Given the description of an element on the screen output the (x, y) to click on. 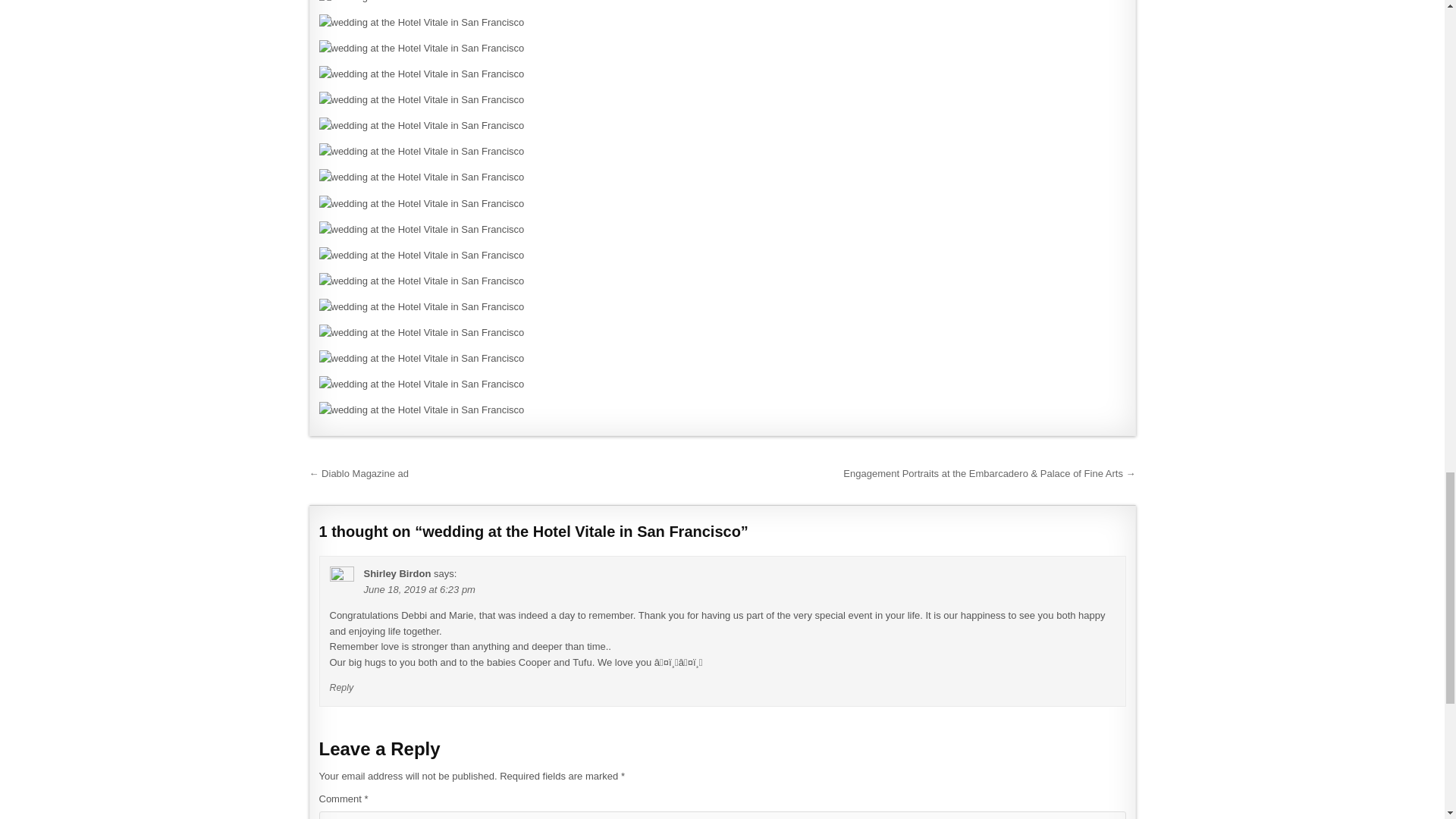
Reply (341, 687)
June 18, 2019 at 6:23 pm (420, 589)
